Given the description of an element on the screen output the (x, y) to click on. 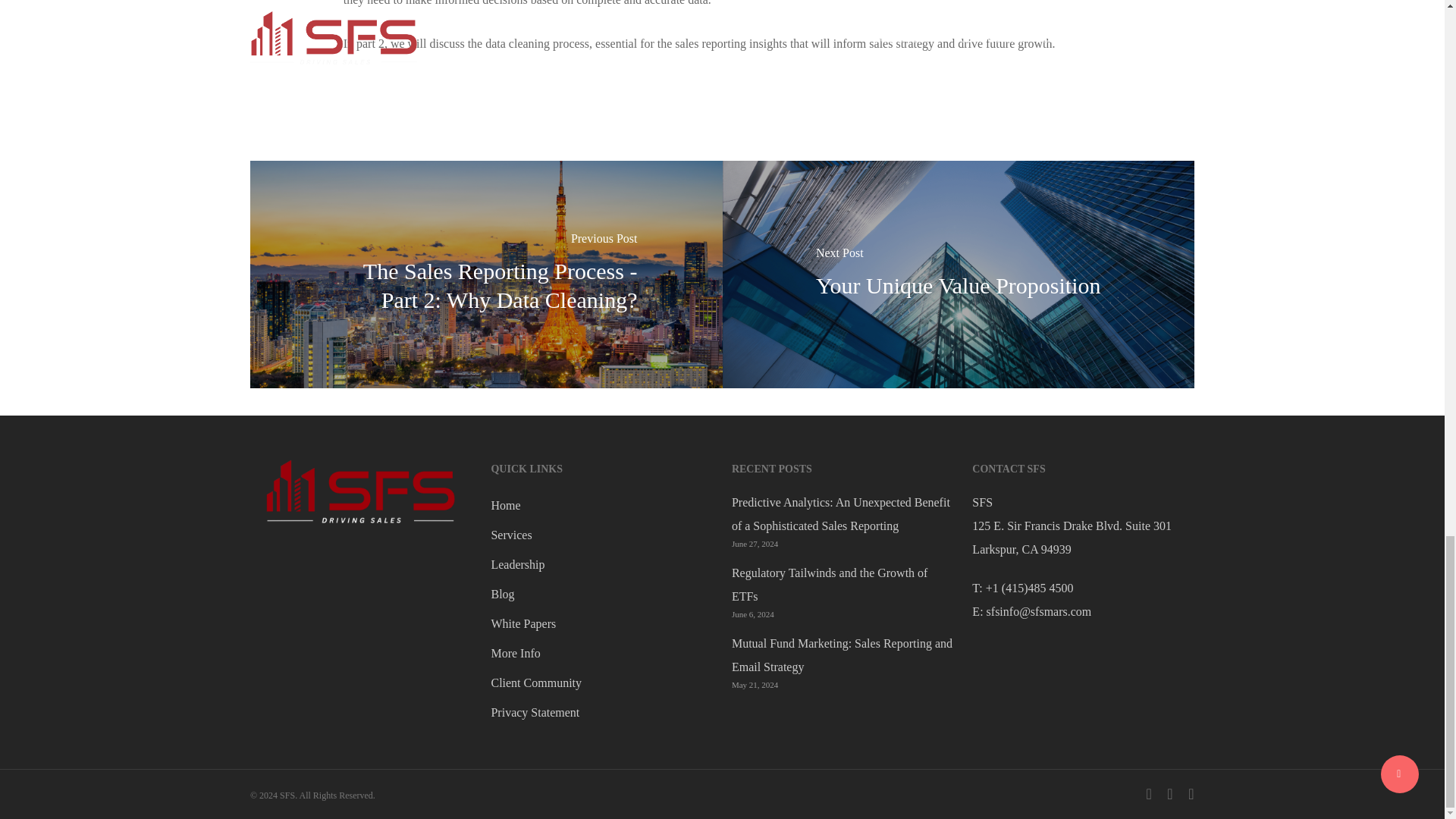
Blog (601, 594)
Privacy Statement (601, 712)
Leadership (601, 564)
More Info (601, 653)
Client Community (601, 682)
Services (601, 535)
Regulatory Tailwinds and the Growth of ETFs (842, 584)
Home (601, 504)
White Papers (601, 623)
